Given the description of an element on the screen output the (x, y) to click on. 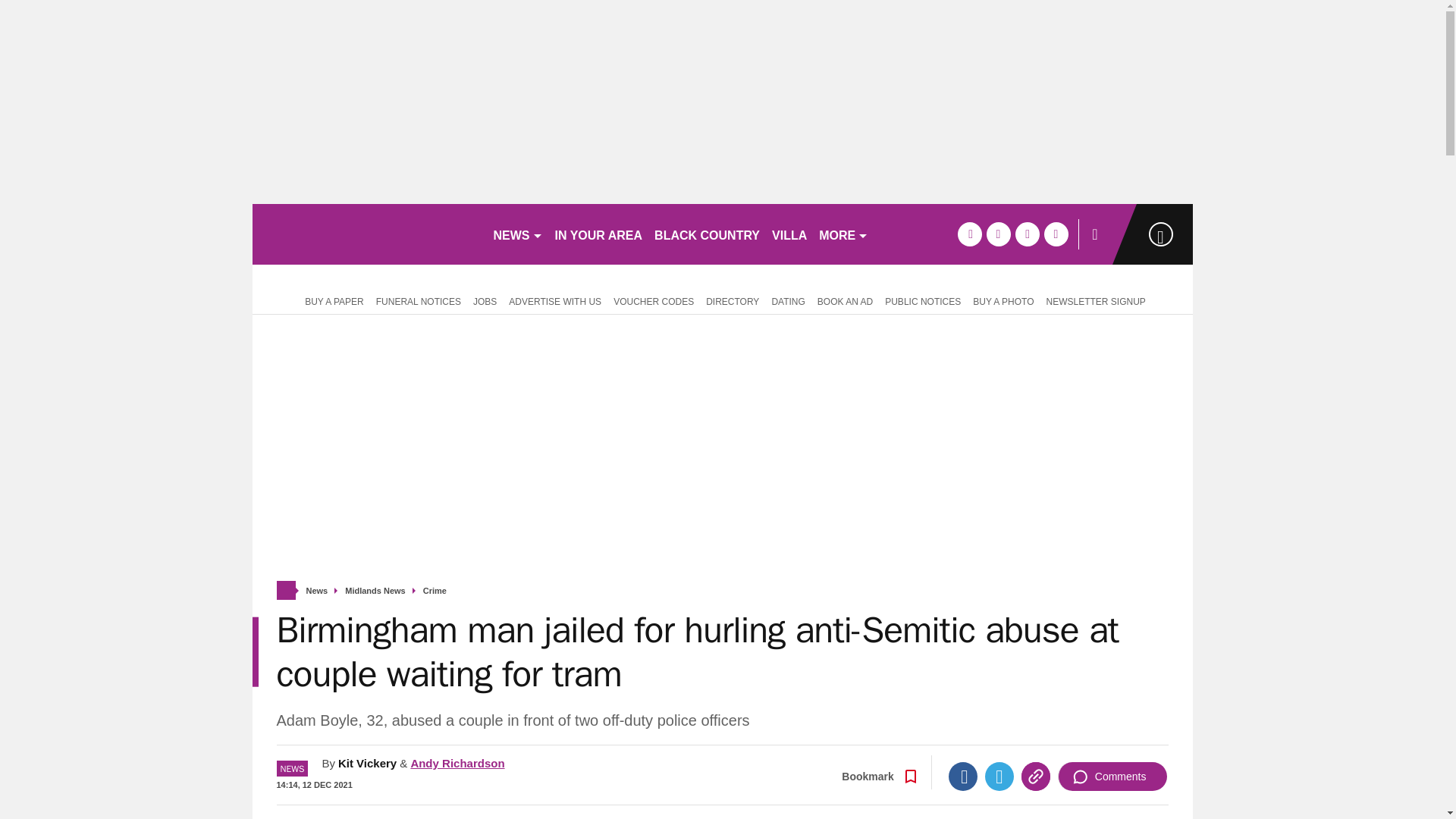
NEWS (517, 233)
Facebook (962, 776)
MORE (843, 233)
facebook (968, 233)
instagram (1055, 233)
Comments (1112, 776)
tiktok (1026, 233)
BLACK COUNTRY (706, 233)
IN YOUR AREA (598, 233)
Twitter (999, 776)
